Given the description of an element on the screen output the (x, y) to click on. 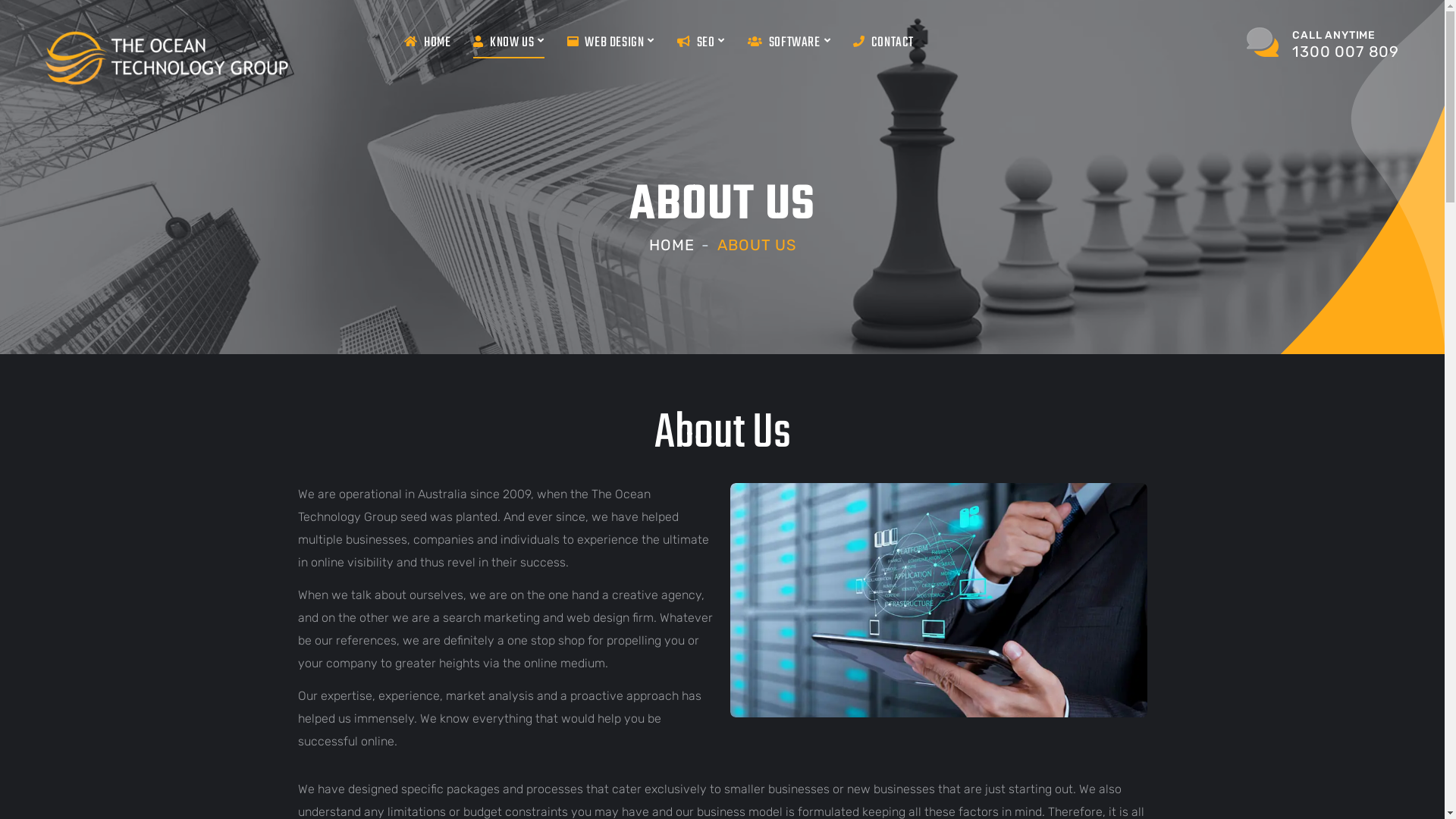
SOFTWARE Element type: text (788, 42)
KNOW US Element type: text (508, 42)
HOME Element type: text (671, 244)
CALL ANYTIME
1300 007 809 Element type: text (1322, 42)
CONTACT Element type: text (883, 42)
SEO Element type: text (700, 42)
WEB DESIGN Element type: text (610, 42)
HOME Element type: text (427, 42)
